Given the description of an element on the screen output the (x, y) to click on. 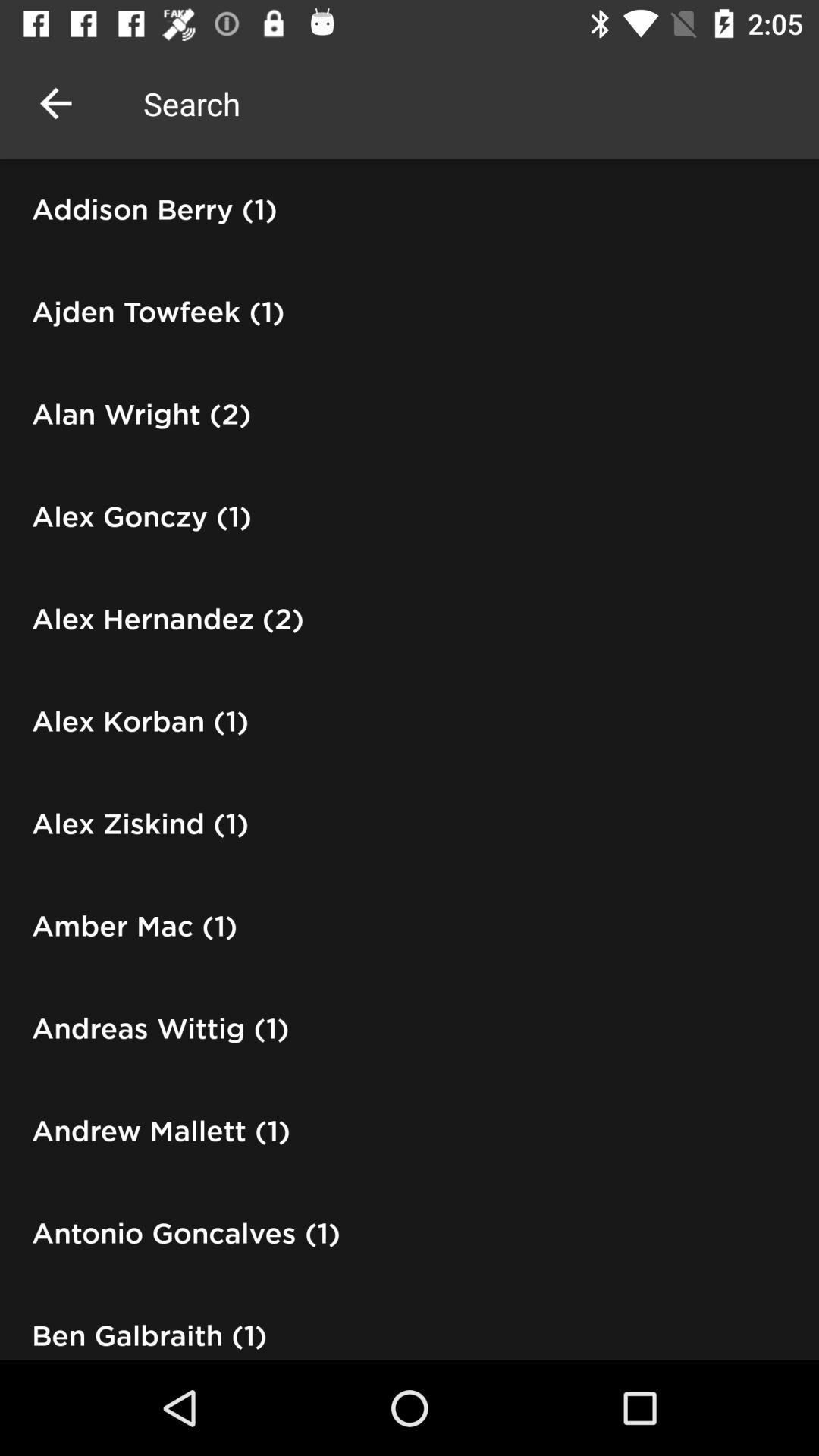
turn off the item next to the search app (55, 103)
